Given the description of an element on the screen output the (x, y) to click on. 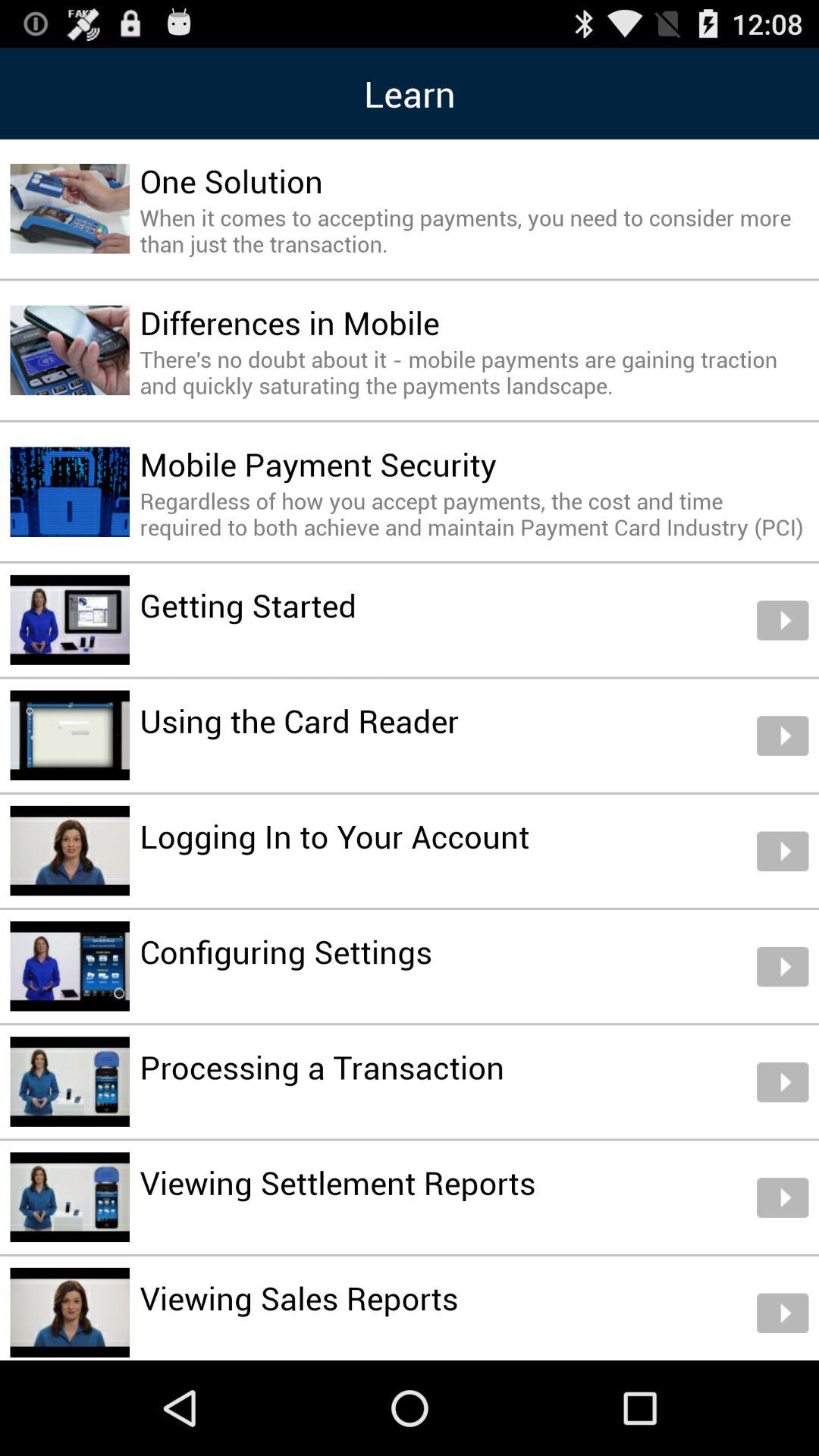
swipe to the mobile payment security (317, 463)
